Given the description of an element on the screen output the (x, y) to click on. 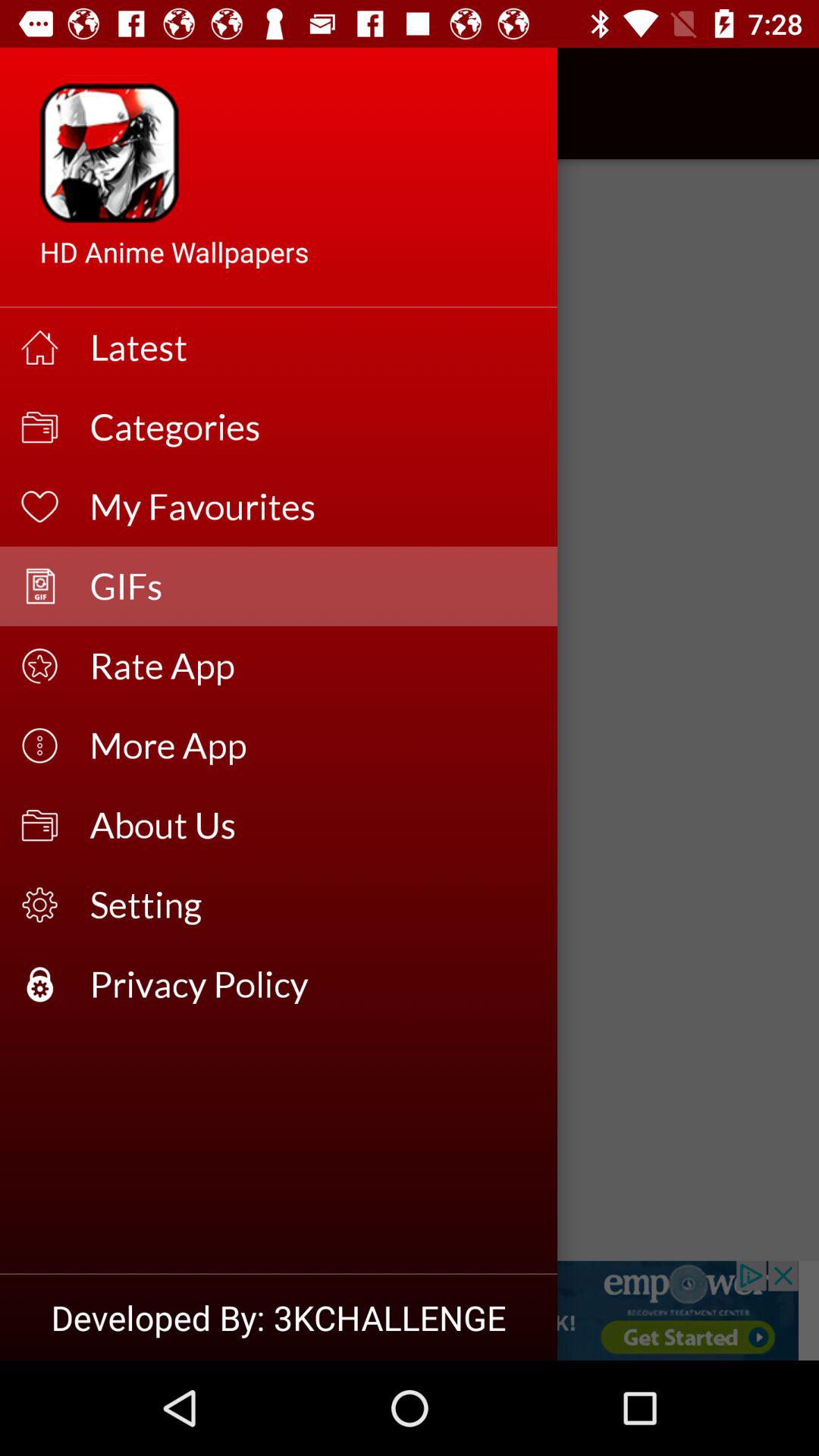
click icon to the left of gif icon (55, 103)
